Given the description of an element on the screen output the (x, y) to click on. 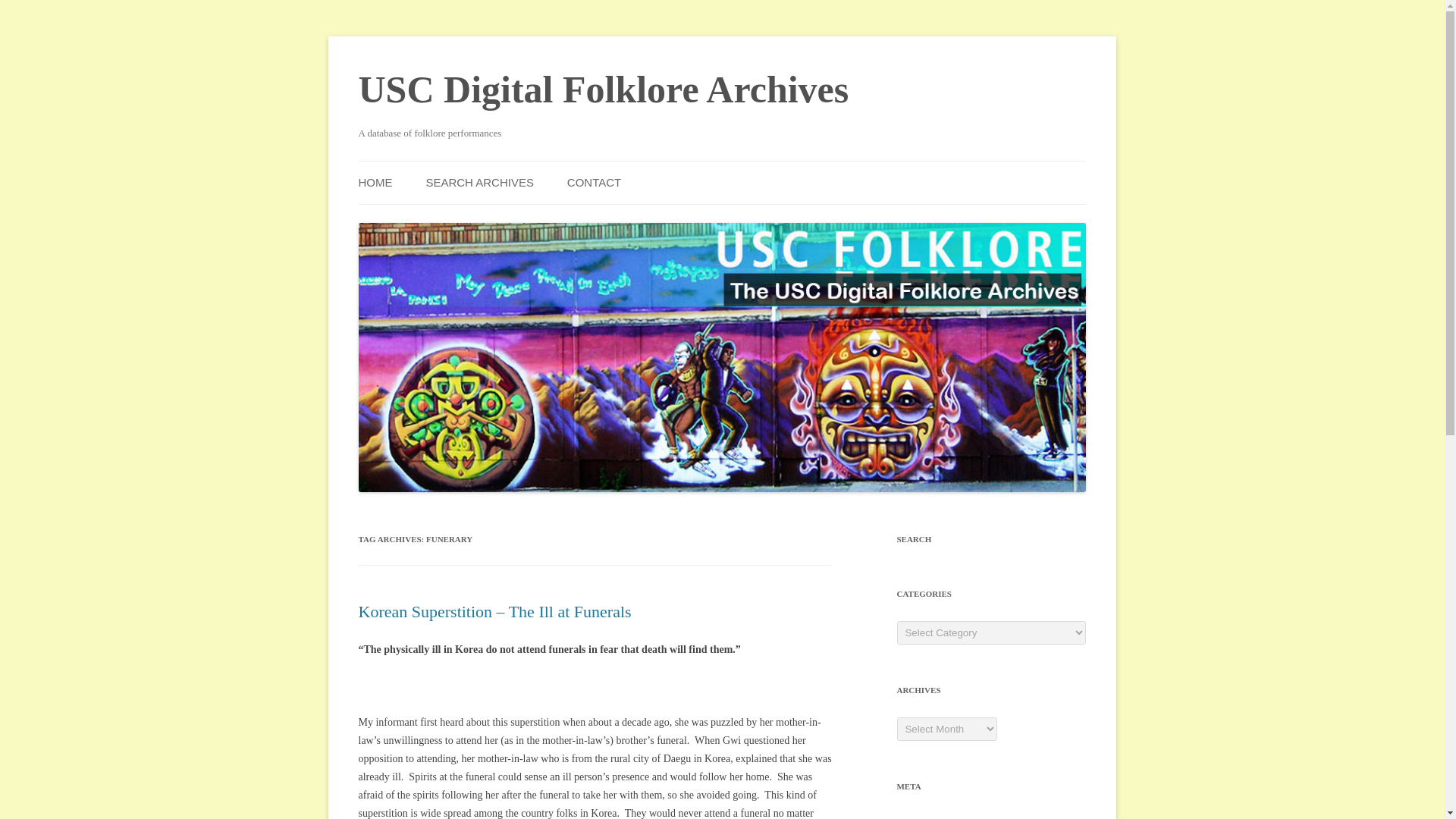
Log in (909, 817)
USC Digital Folklore Archives (603, 89)
USC Digital Folklore Archives (603, 89)
CONTACT (594, 182)
SEARCH ARCHIVES (479, 182)
